Given the description of an element on the screen output the (x, y) to click on. 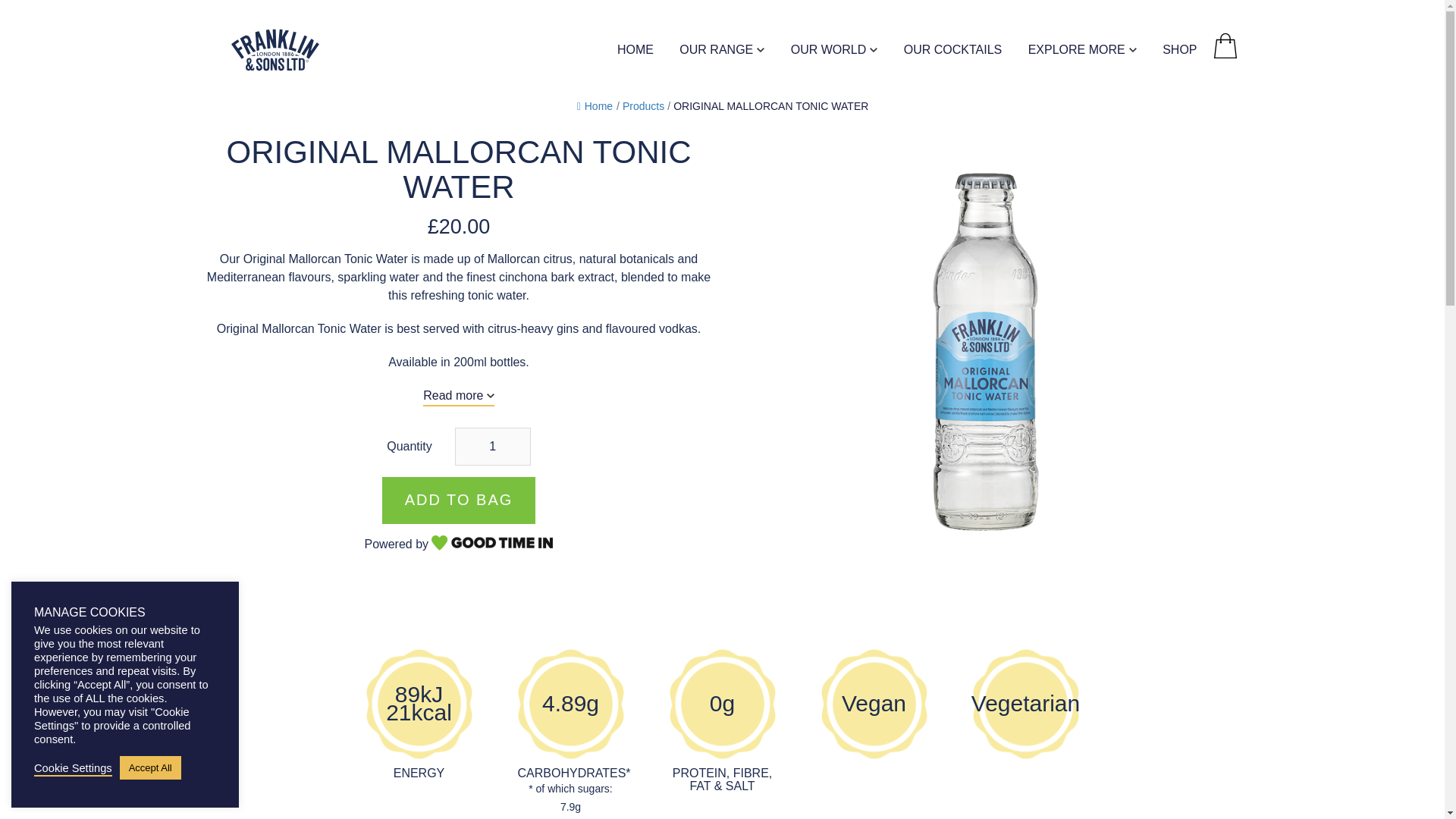
OUR WORLD (833, 50)
1 (492, 446)
OUR RANGE (721, 50)
Read more (459, 395)
SHOP (1178, 50)
Products (643, 105)
Home (594, 105)
ADD TO BAG (458, 500)
Products (643, 105)
Original Mallorcan Tonic Water (769, 105)
HOME (635, 50)
EXPLORE MORE (1082, 50)
OUR COCKTAILS (953, 50)
